Given the description of an element on the screen output the (x, y) to click on. 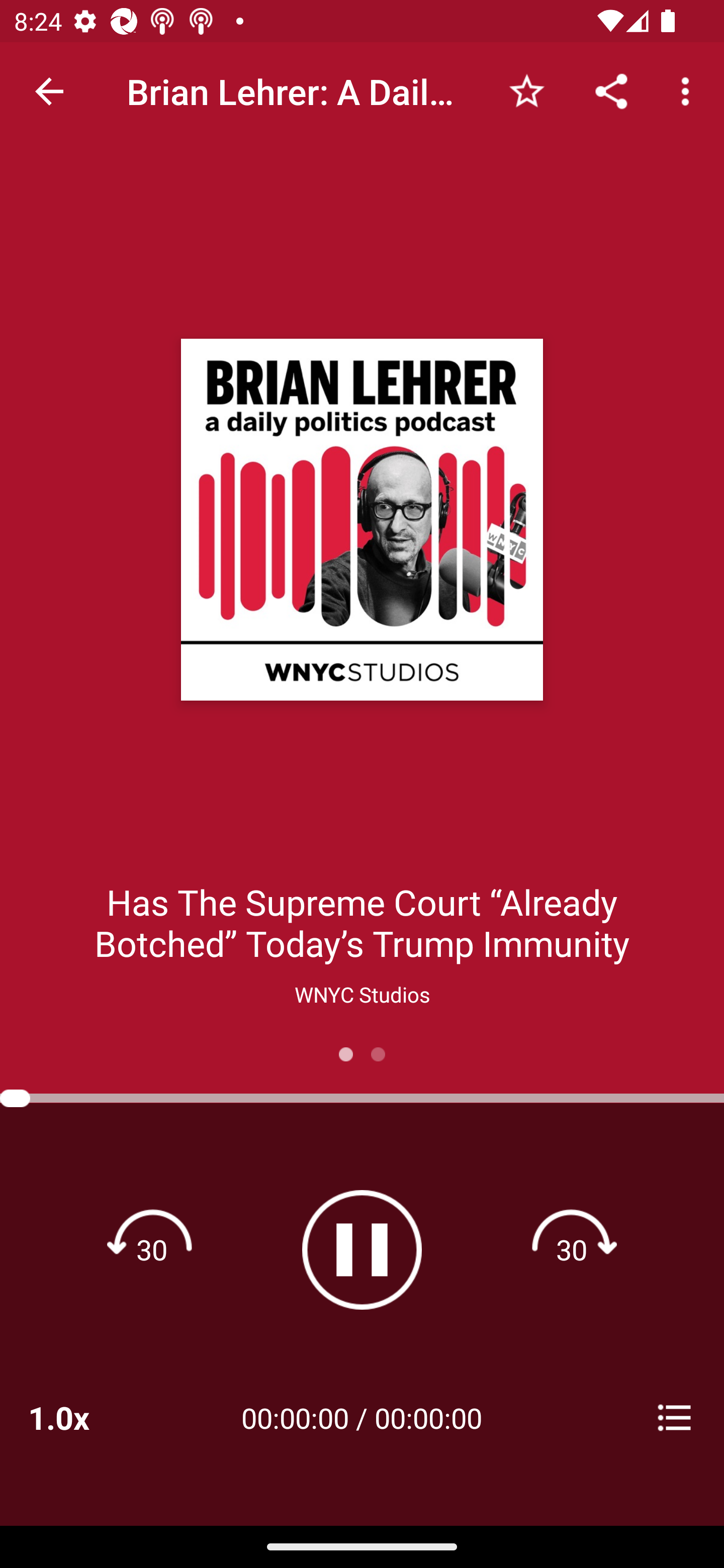
Navigate up (49, 91)
Add to Favorites (526, 90)
Share... (611, 90)
More options (688, 90)
WNYC Studios (361, 994)
Pause (361, 1249)
Rewind (151, 1249)
Fast forward (571, 1249)
1.0x Playback Speeds (84, 1417)
00:00:00 (428, 1417)
